Given the description of an element on the screen output the (x, y) to click on. 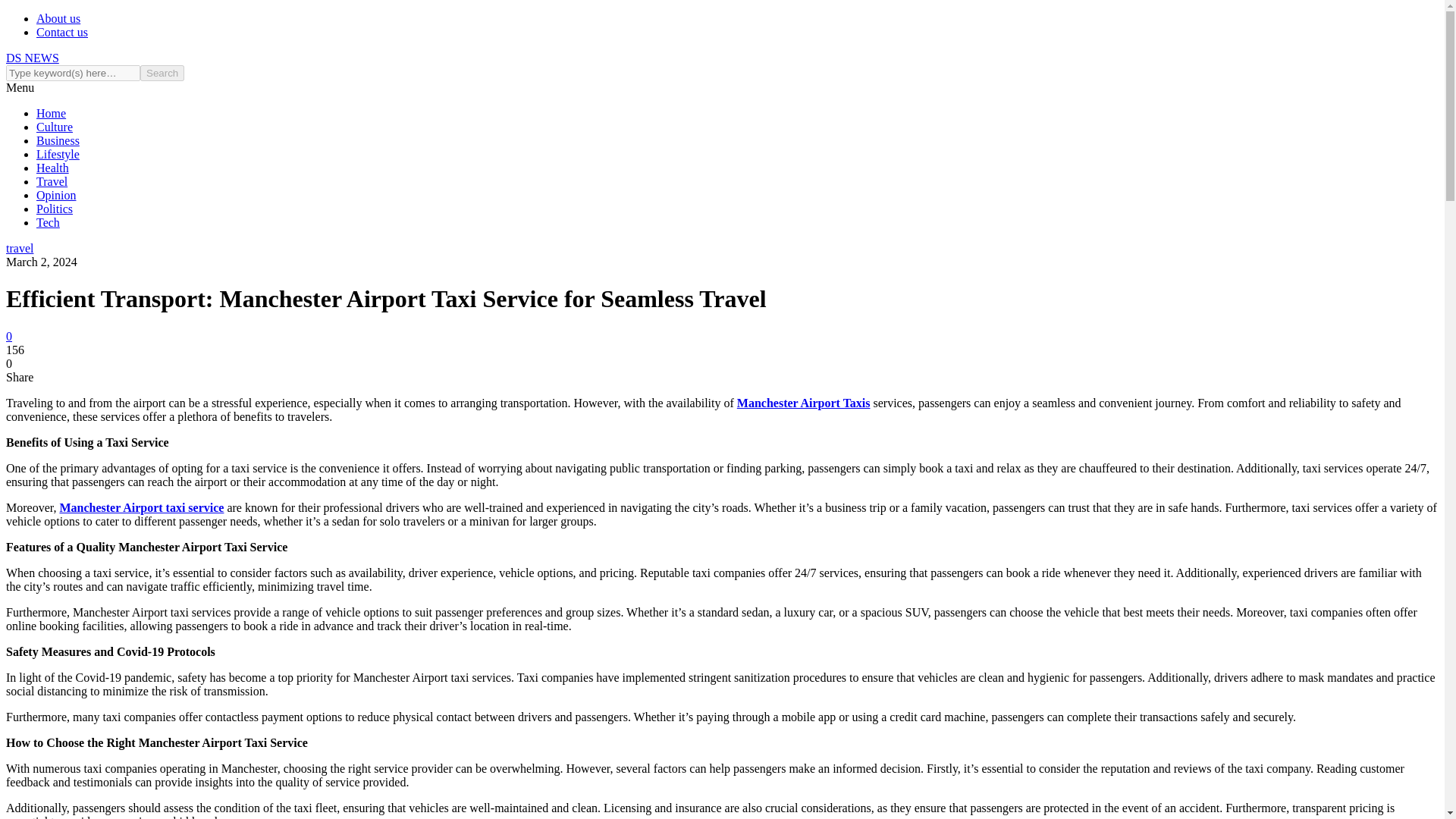
Search (161, 73)
travel (19, 247)
Home (50, 113)
Health (52, 167)
Travel (51, 181)
Manchester Airport taxi service (141, 507)
DS NEWS (32, 57)
Lifestyle (58, 154)
Politics (54, 208)
Opinion (55, 195)
Manchester Airport Taxis (803, 402)
Culture (54, 126)
Search (161, 73)
About us (58, 18)
Tech (47, 222)
